Given the description of an element on the screen output the (x, y) to click on. 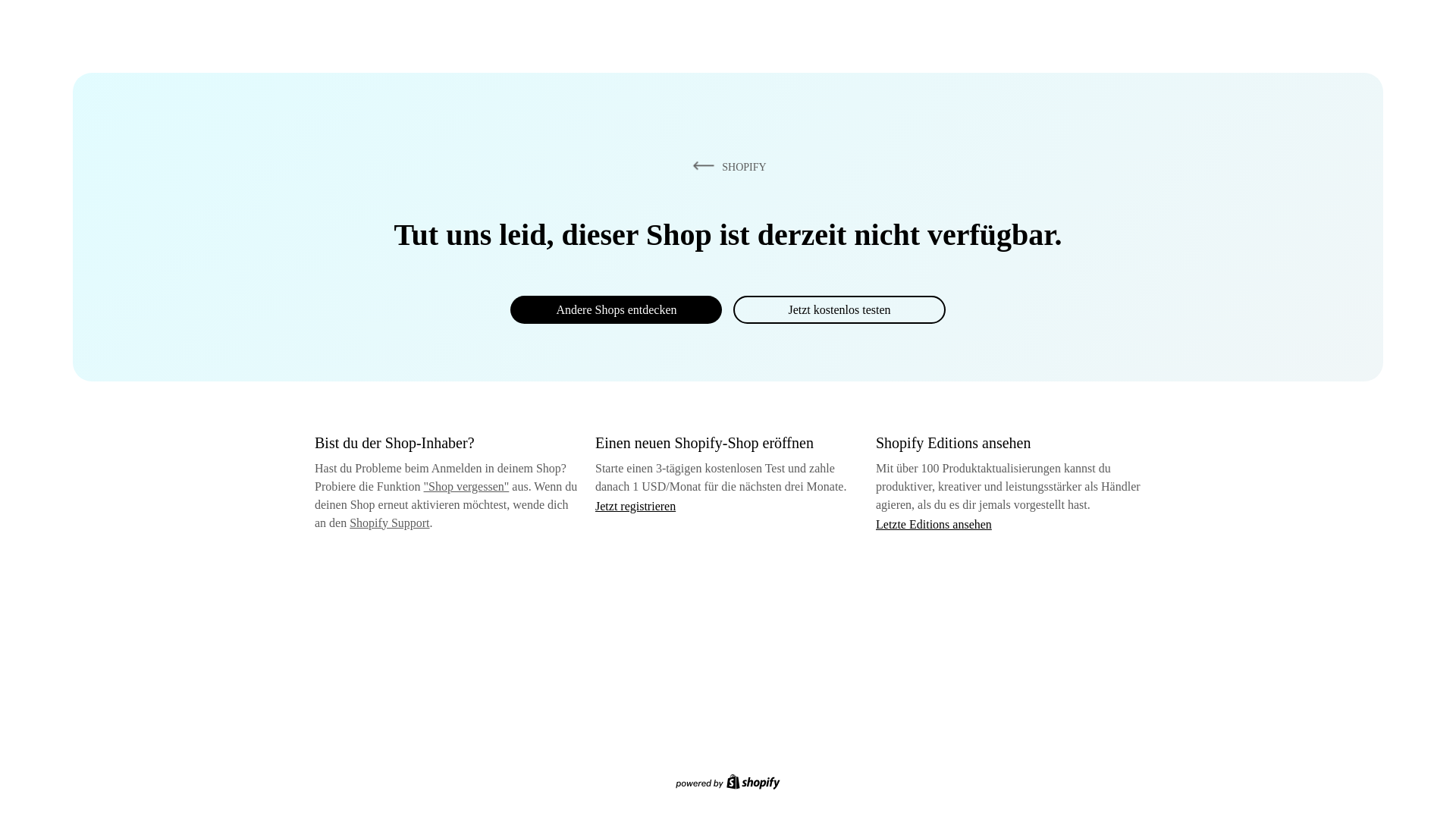
Shopify Support (389, 522)
"Shop vergessen" (466, 486)
Andere Shops entdecken (616, 309)
Letzte Editions ansehen (933, 523)
Jetzt kostenlos testen (838, 309)
SHOPIFY (726, 166)
Jetzt registrieren (635, 505)
